Given the description of an element on the screen output the (x, y) to click on. 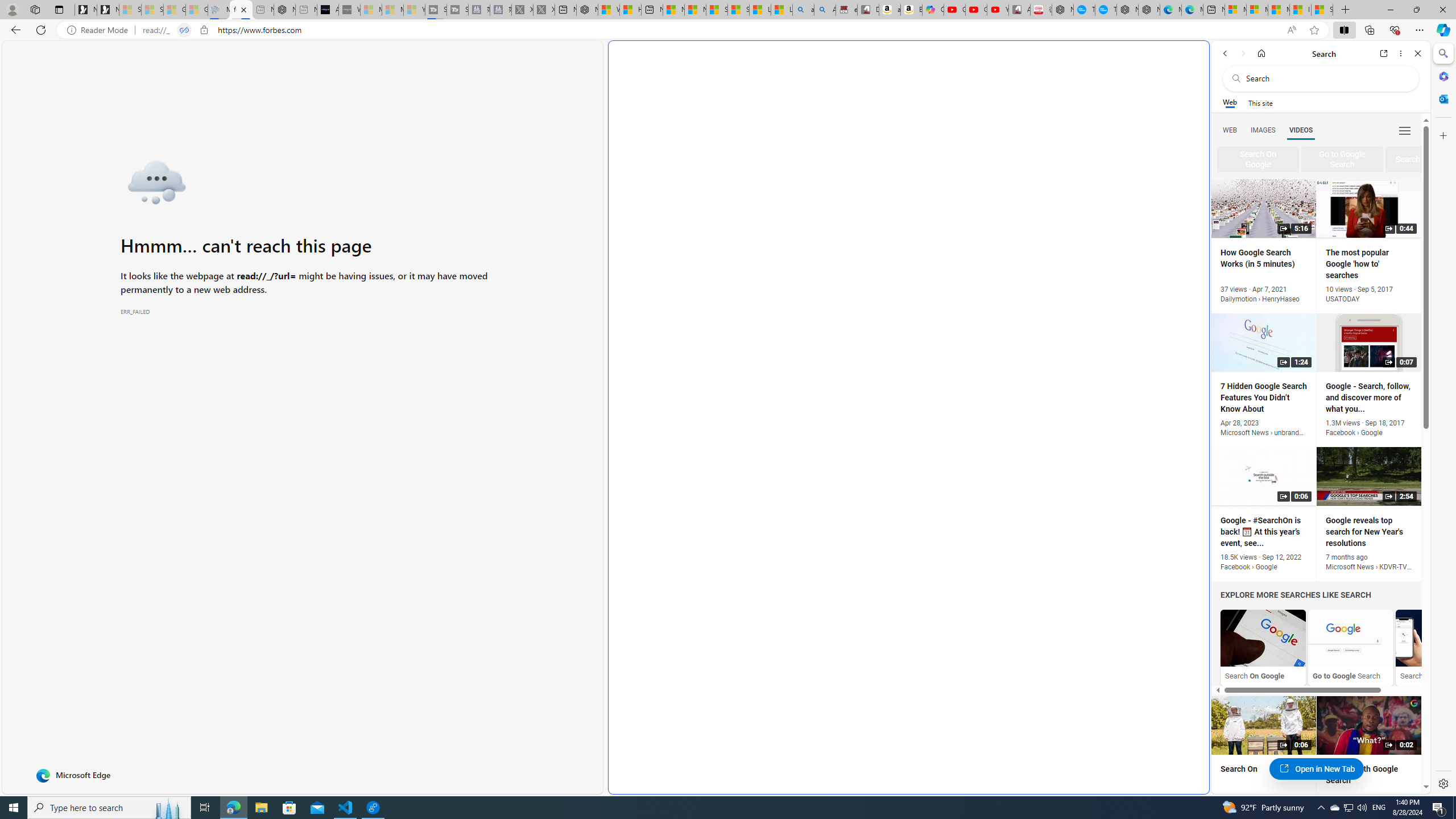
Home (1261, 53)
Microsoft Start - Sleeping (392, 9)
amazon.in/dp/B0CX59H5W7/?tag=gsmcom05-21 (889, 9)
Reader Mode (100, 29)
Microsoft 365 (1442, 76)
